Given the description of an element on the screen output the (x, y) to click on. 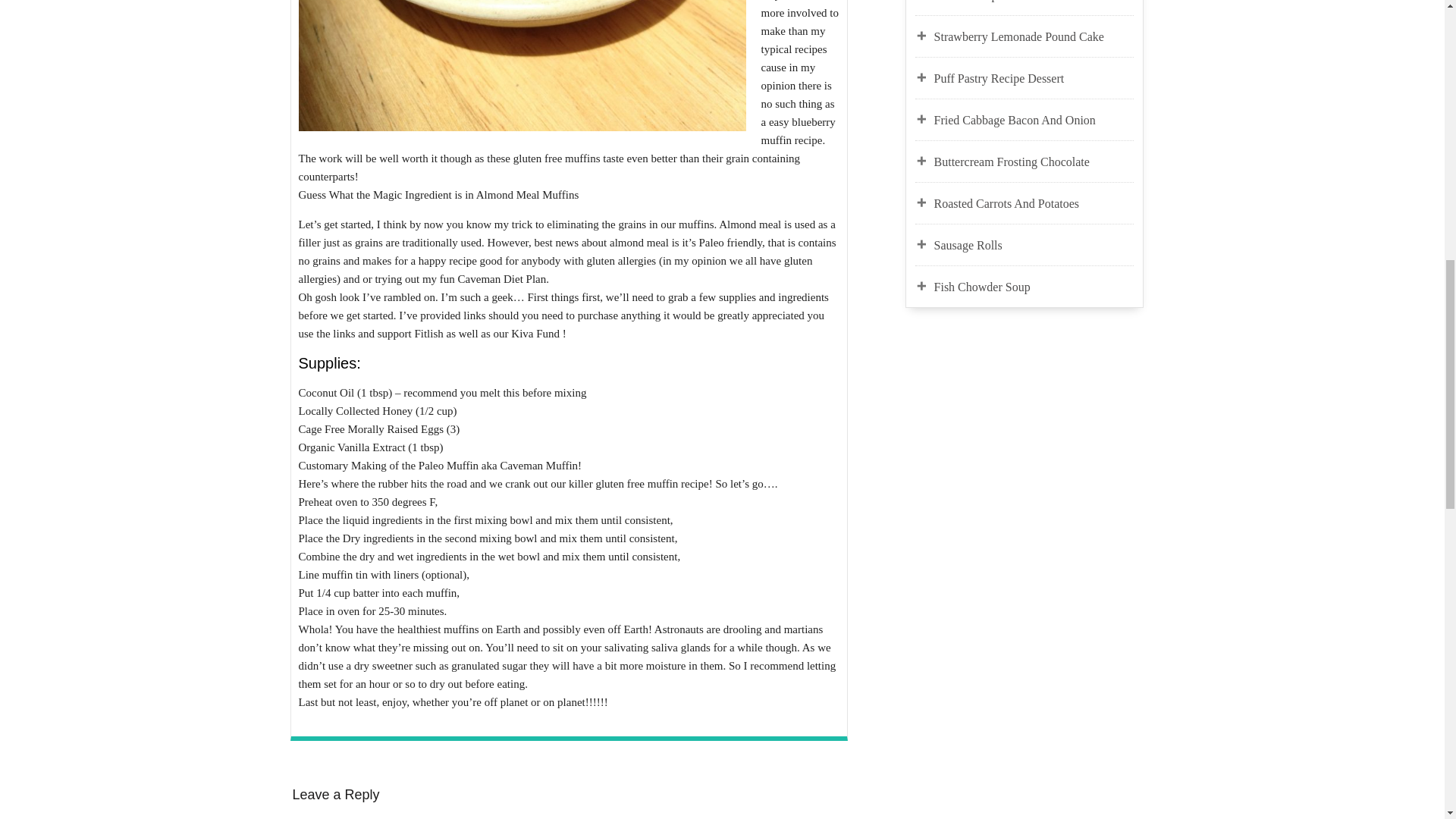
Noodle Soup (1034, 2)
Roasted Carrots And Potatoes (1034, 203)
Strawberry Lemonade Pound Cake (1034, 36)
Puff Pastry Recipe Dessert (1034, 78)
Fish Chowder Soup (1034, 287)
Sausage Rolls (1034, 245)
Fried Cabbage Bacon And Onion (1034, 120)
Buttercream Frosting Chocolate (1034, 162)
